Given the description of an element on the screen output the (x, y) to click on. 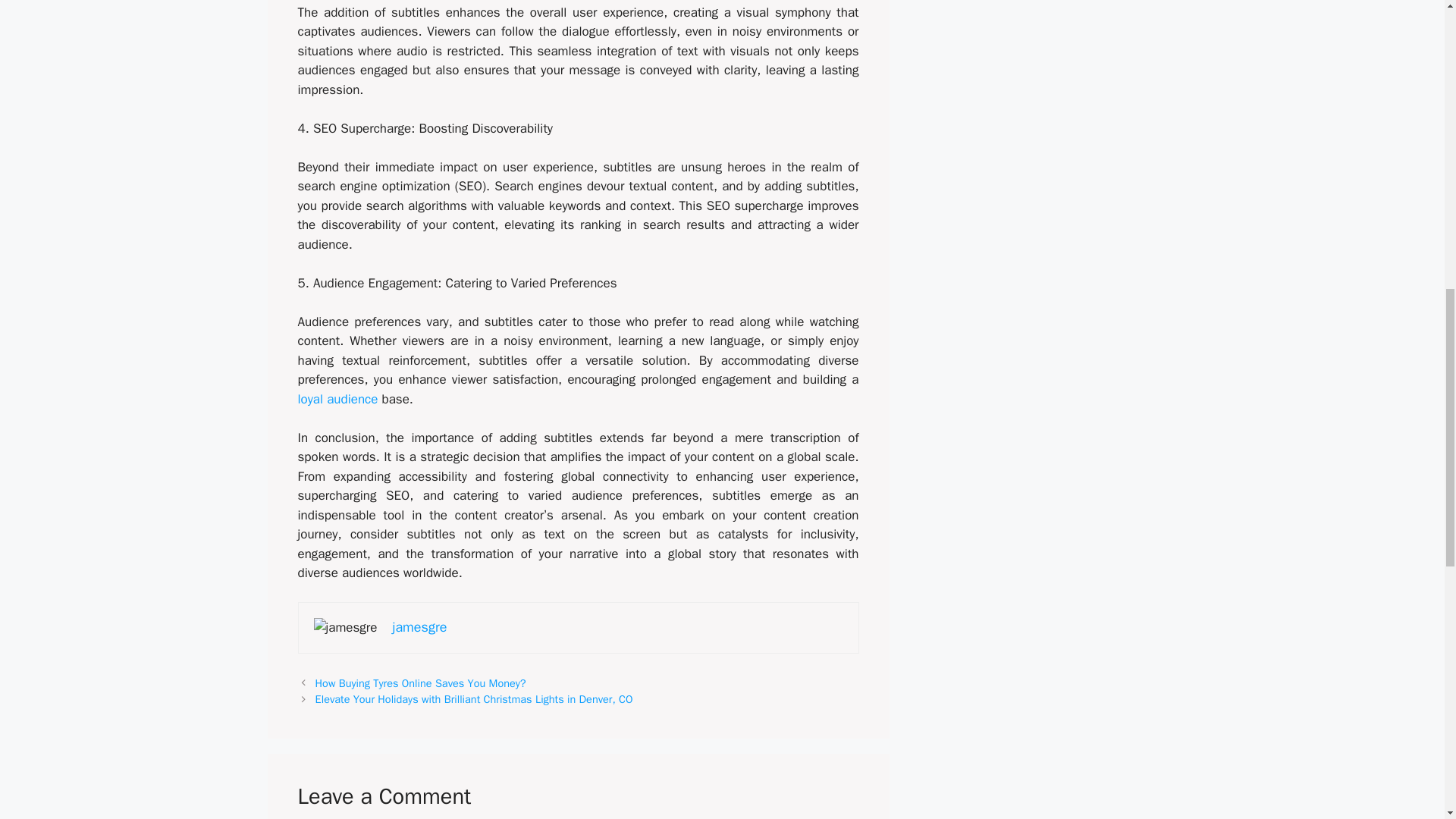
jamesgre (418, 627)
How Buying Tyres Online Saves You Money? (420, 683)
loyal audience (337, 399)
